Given the description of an element on the screen output the (x, y) to click on. 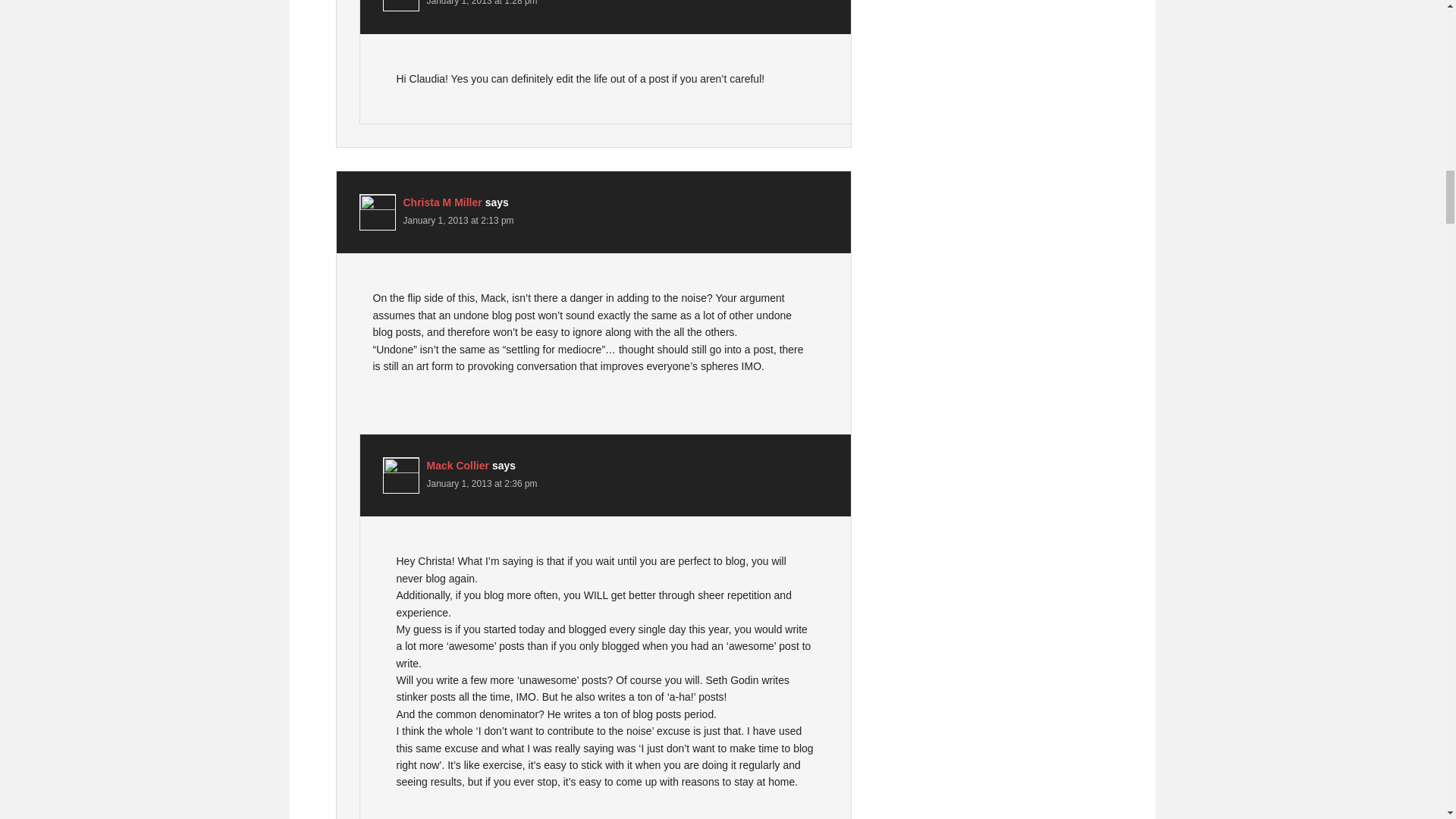
Mack Collier (456, 465)
January 1, 2013 at 1:28 pm (481, 2)
January 1, 2013 at 2:36 pm (481, 483)
January 1, 2013 at 2:13 pm (458, 220)
Christa M Miller (442, 202)
